Given the description of an element on the screen output the (x, y) to click on. 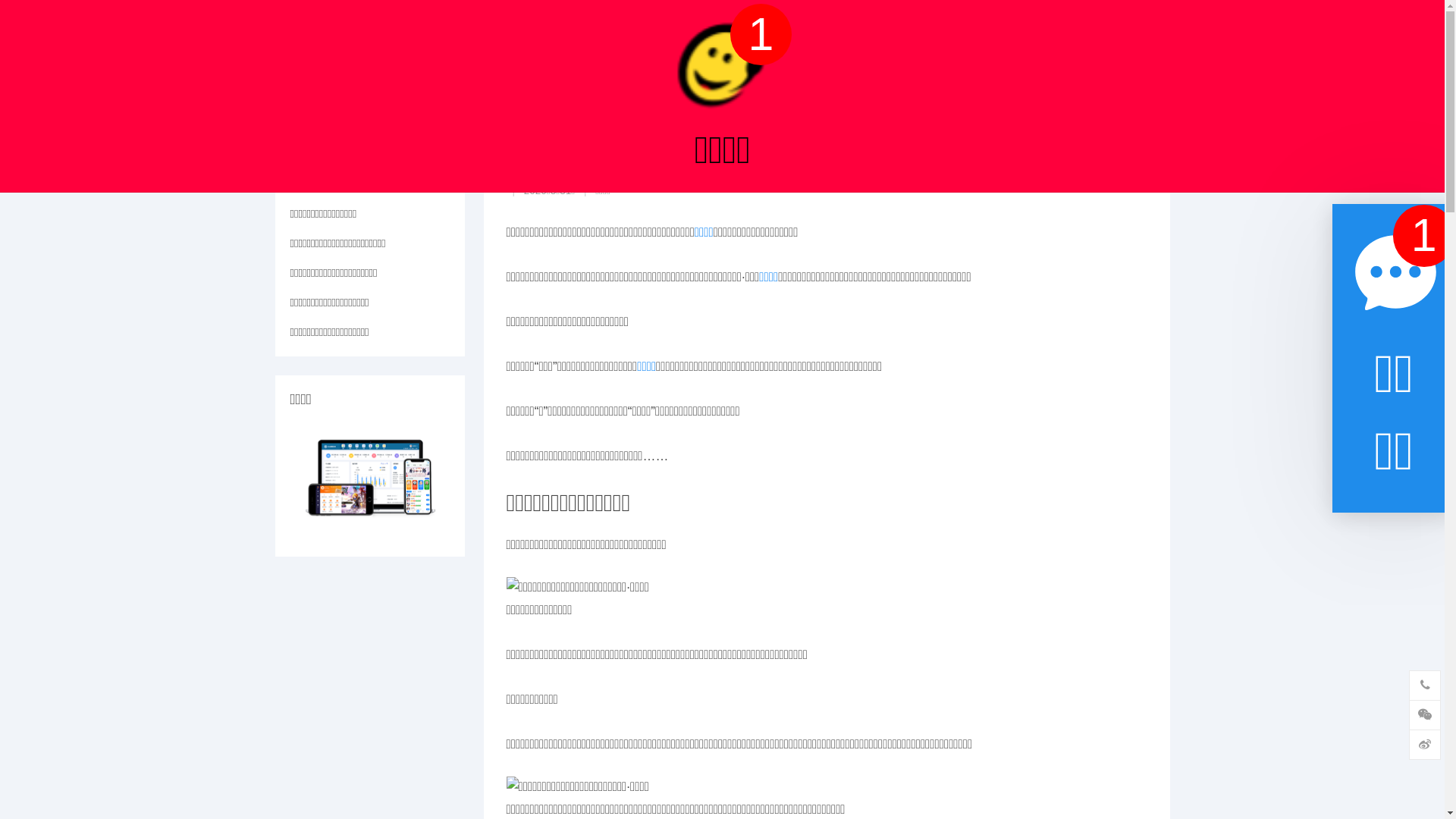
1 Element type: text (1424, 235)
